Given the description of an element on the screen output the (x, y) to click on. 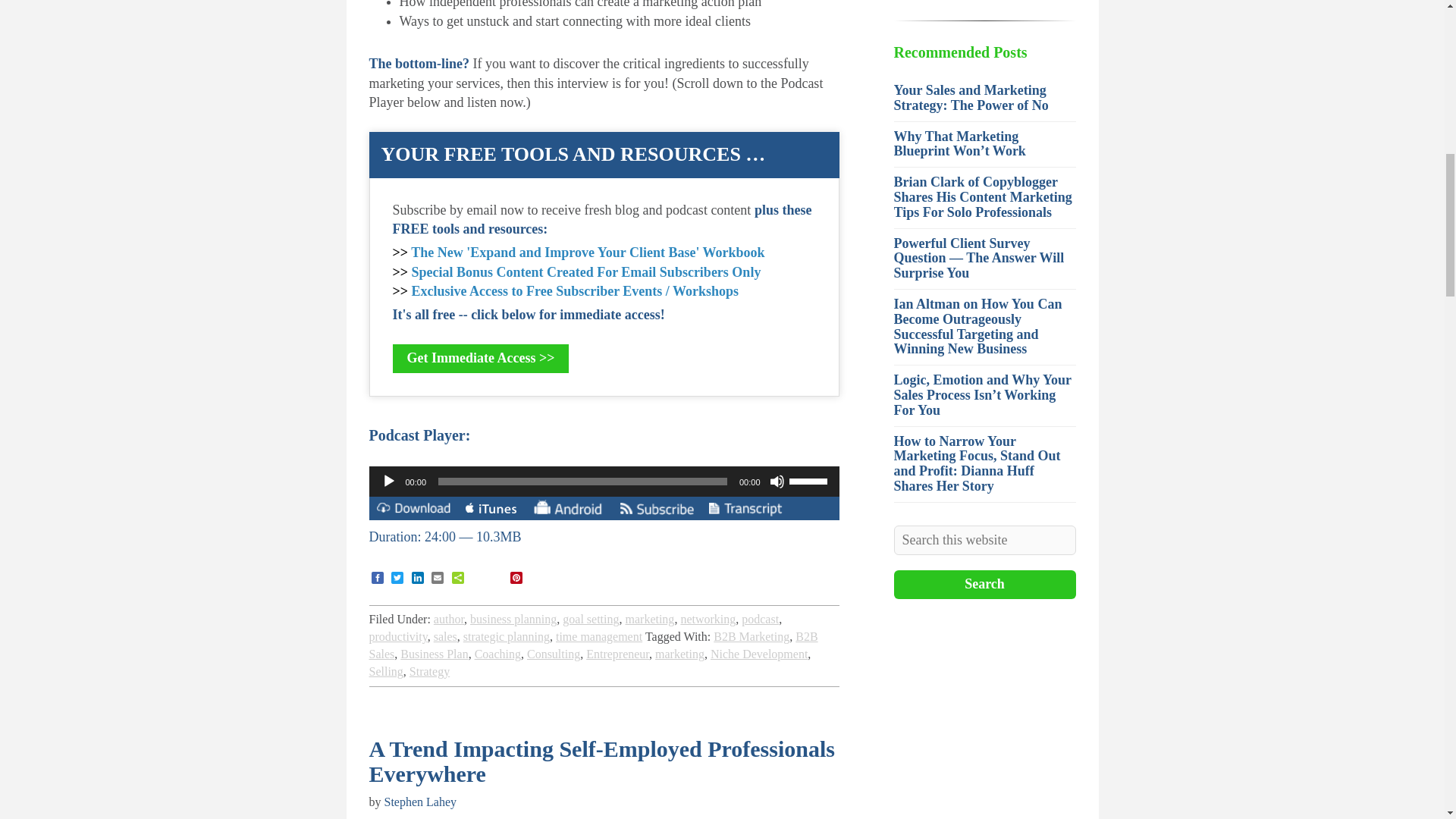
strategic planning (506, 635)
marketing (649, 618)
Play (388, 481)
Subscribe (657, 509)
business planning (513, 618)
goal setting (590, 618)
B2B Marketing (751, 635)
podcast (759, 618)
iTunes (490, 509)
B2B Sales (592, 644)
Mute (776, 481)
productivity (397, 635)
Transcript (744, 509)
Download (412, 509)
author (448, 618)
